Given the description of an element on the screen output the (x, y) to click on. 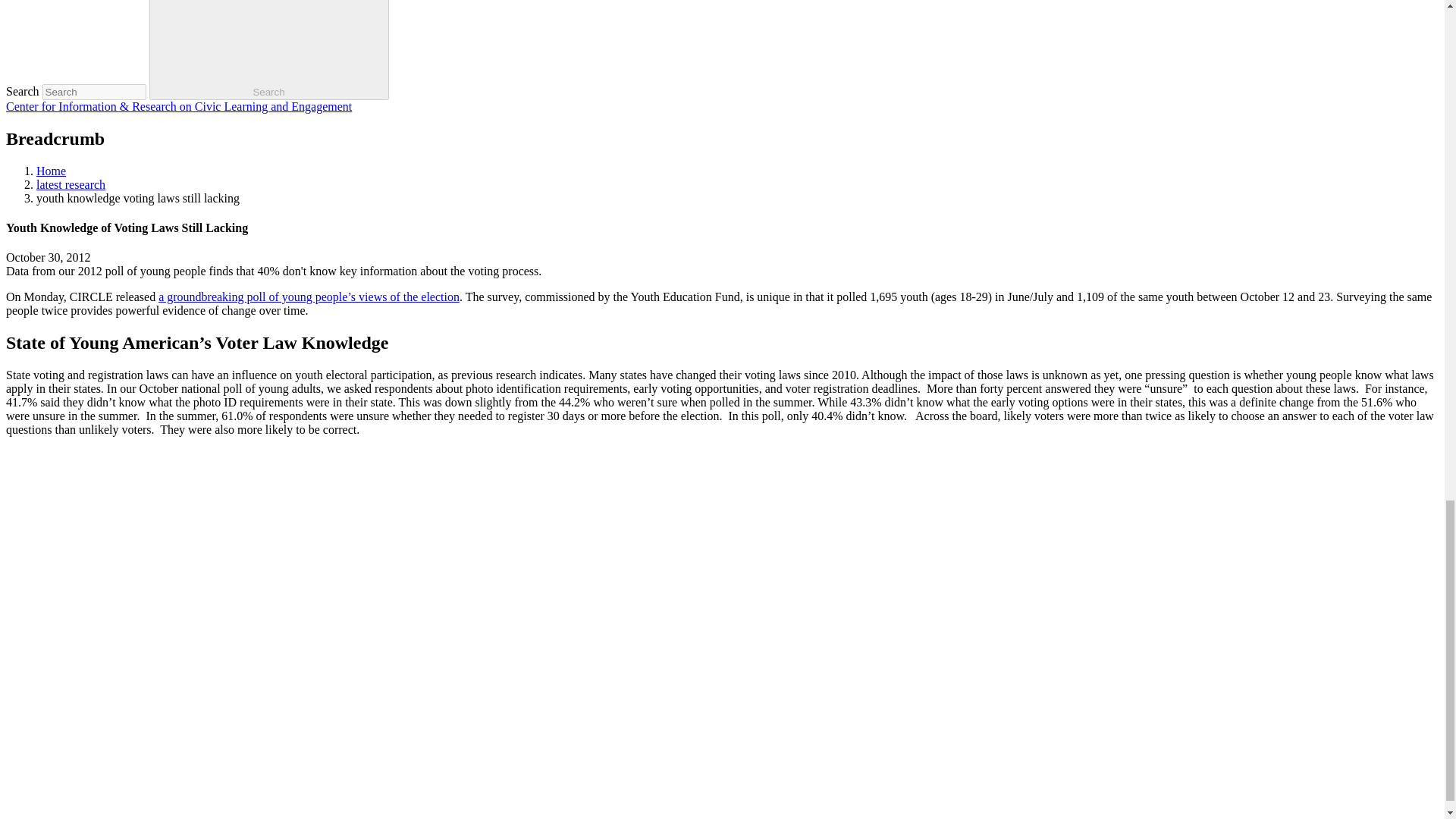
Enter the terms you wish to search for. (94, 91)
Open Search (268, 42)
